Given the description of an element on the screen output the (x, y) to click on. 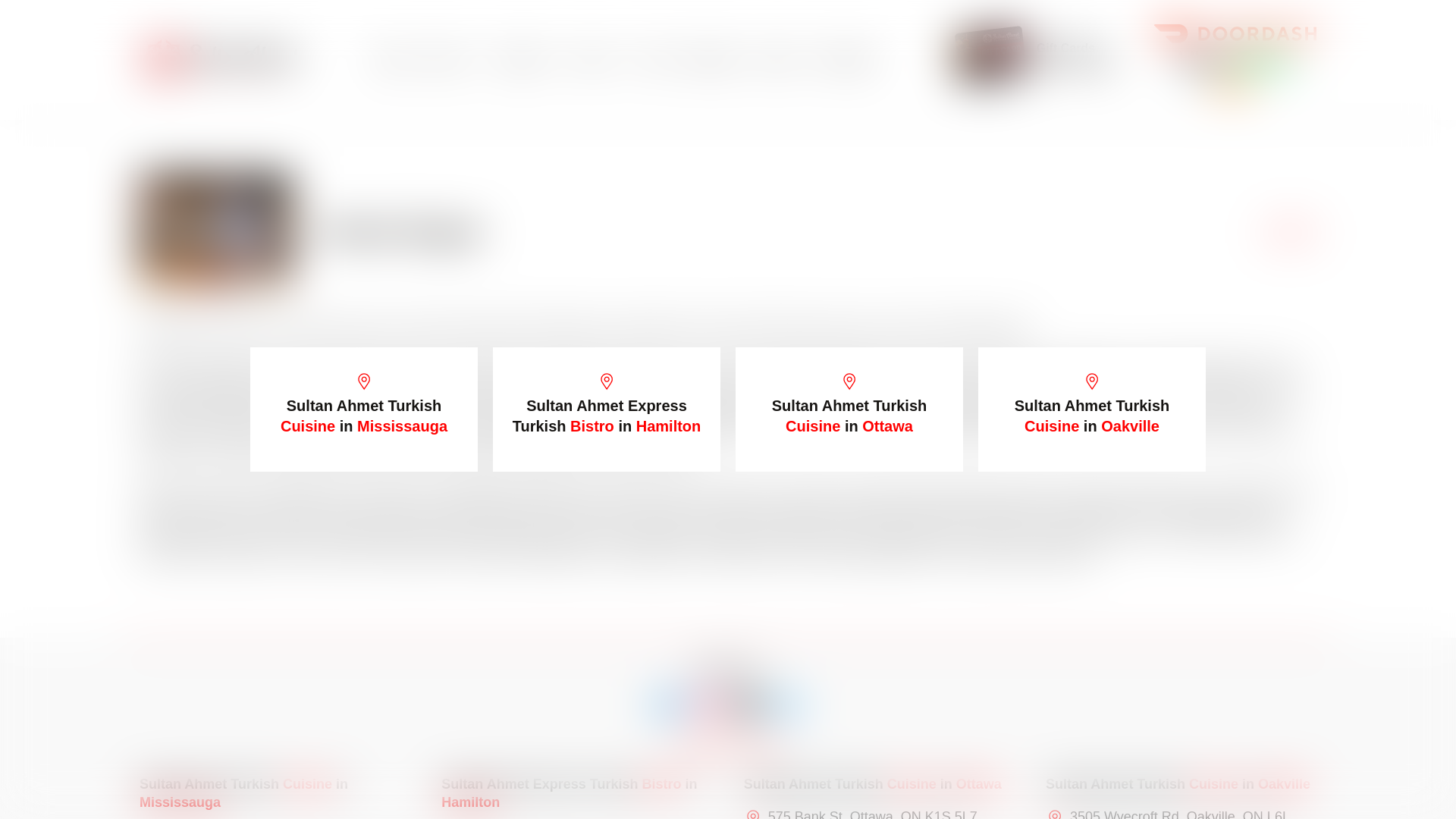
Gift Cards (1065, 47)
Sultan Ahmet Turkish Cuisine in Oakville (1091, 409)
Content (527, 59)
Reviews (712, 59)
FAQ (655, 59)
FAQ (655, 59)
Menu (454, 59)
Career (777, 59)
Reviews (712, 59)
Home (392, 59)
